Given the description of an element on the screen output the (x, y) to click on. 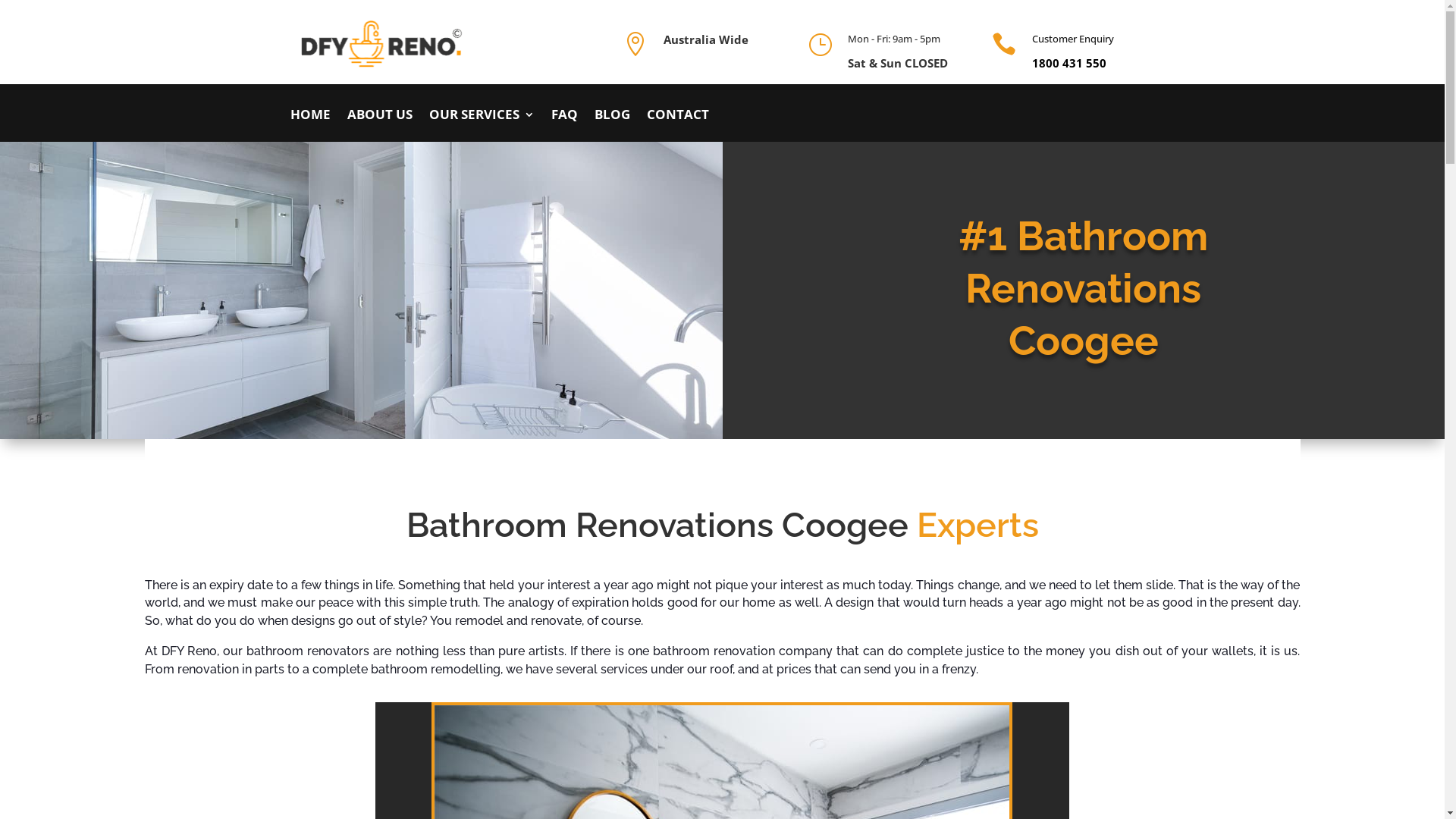
HOME Element type: text (309, 125)
ABOUT US Element type: text (379, 125)
1800 431 550 Element type: text (1069, 62)
OUR SERVICES Element type: text (481, 125)
BLOG Element type: text (612, 125)
FAQ Element type: text (563, 125)
CONTACT Element type: text (677, 125)
